Given the description of an element on the screen output the (x, y) to click on. 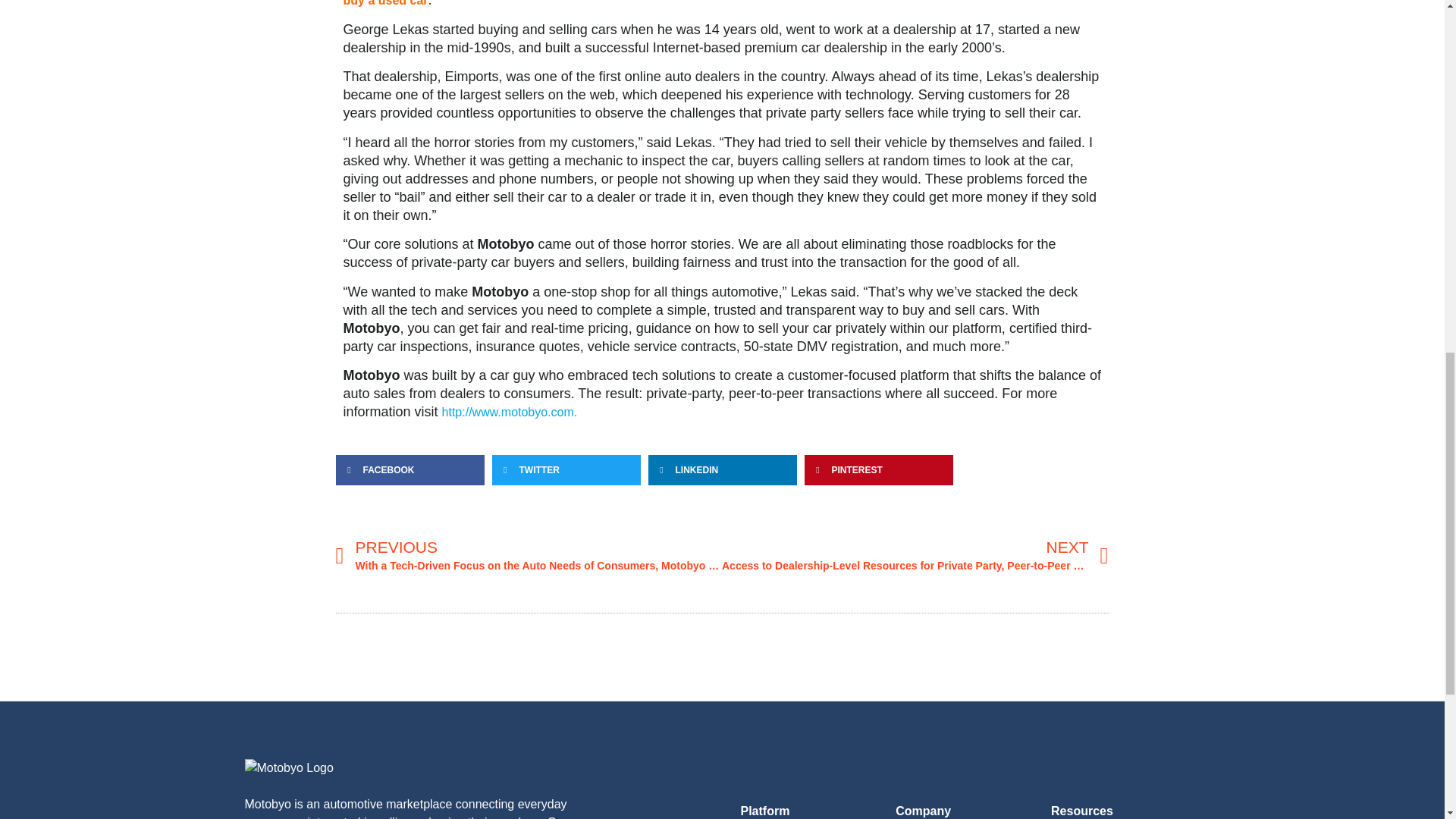
Company (922, 810)
motobyo-white-logo (288, 768)
Platform (764, 810)
buy a used car (385, 3)
Resources (1082, 810)
